Given the description of an element on the screen output the (x, y) to click on. 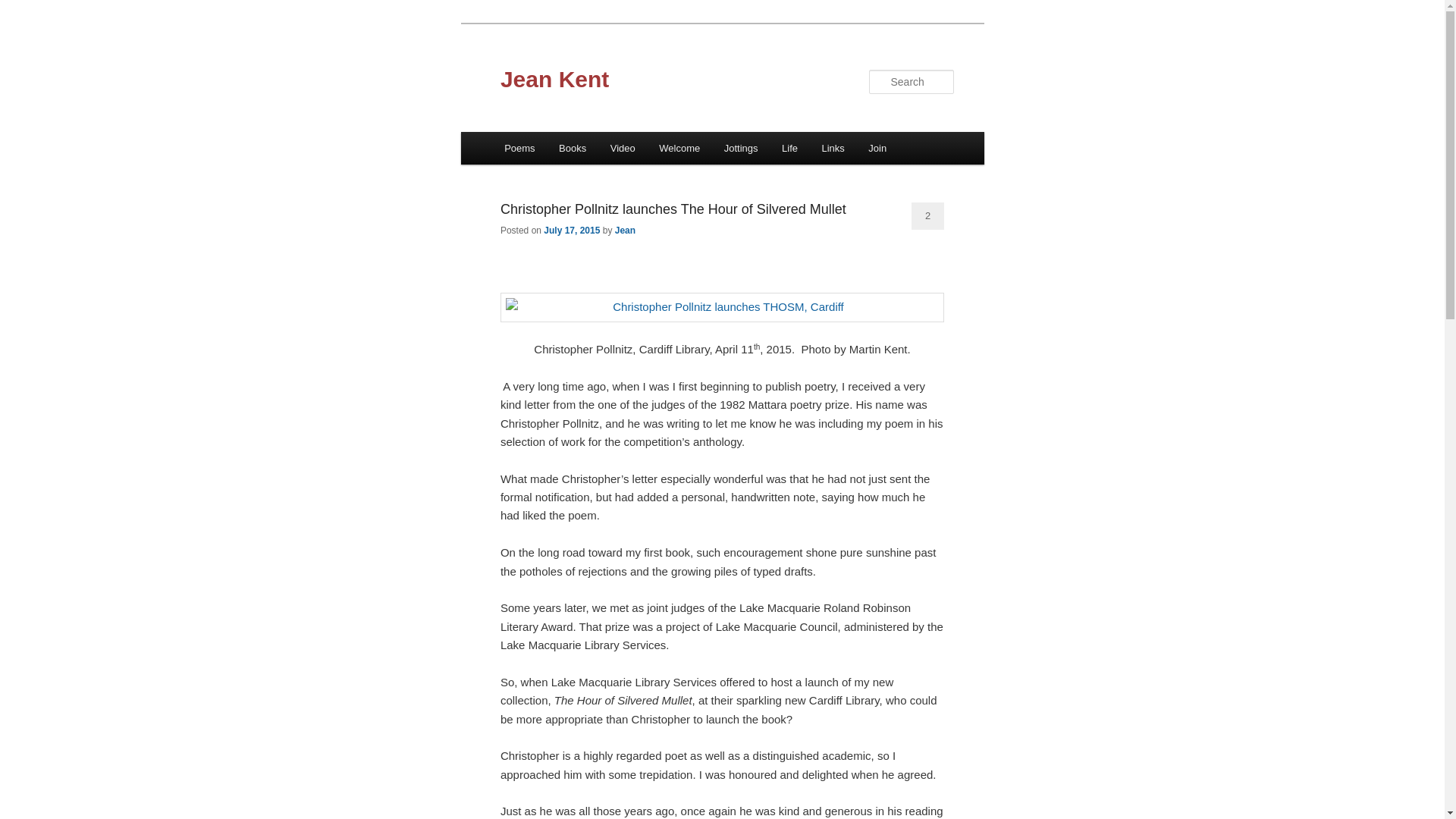
Life Element type: text (789, 147)
Search Element type: text (24, 8)
Poems Element type: text (519, 147)
Jean Element type: text (625, 230)
2 Element type: text (927, 215)
July 17, 2015 Element type: text (571, 230)
Jottings Element type: text (740, 147)
Links Element type: text (832, 147)
Welcome Element type: text (679, 147)
Jean Kent Element type: text (554, 78)
Join Element type: text (877, 147)
Skip to primary content Element type: text (80, 31)
Christopher Pollnitz launches The Hour of Silvered Mullet Element type: text (673, 208)
Skip to secondary content Element type: text (87, 31)
Video Element type: text (622, 147)
Books Element type: text (572, 147)
